Given the description of an element on the screen output the (x, y) to click on. 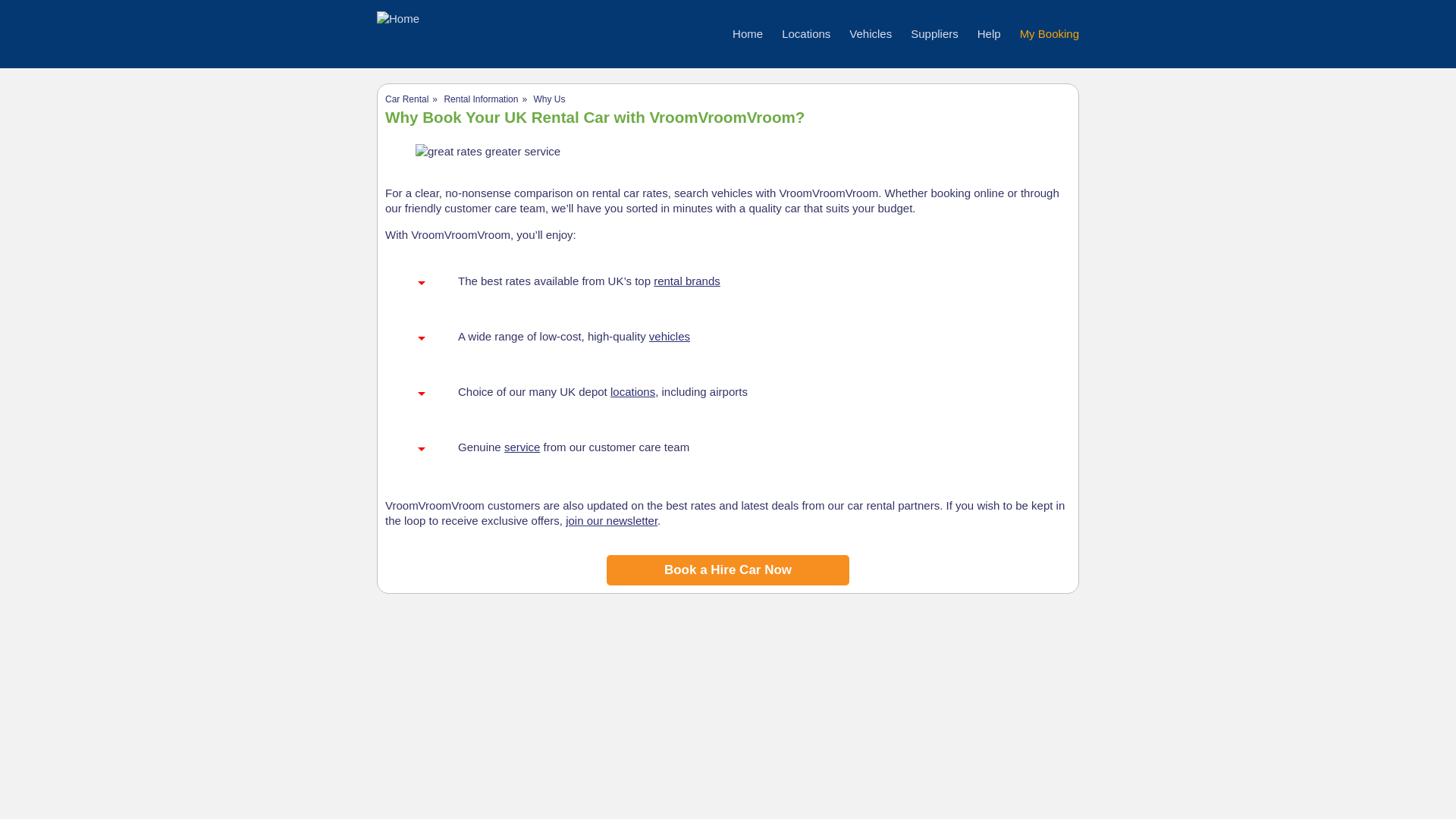
Suppliers (934, 33)
Home (747, 33)
Vehicles (869, 33)
My Booking (1049, 33)
Help (988, 33)
Locations (805, 33)
Car Rental (406, 99)
Rental Information (481, 99)
great rates greater service (487, 151)
Why Us (548, 99)
